Given the description of an element on the screen output the (x, y) to click on. 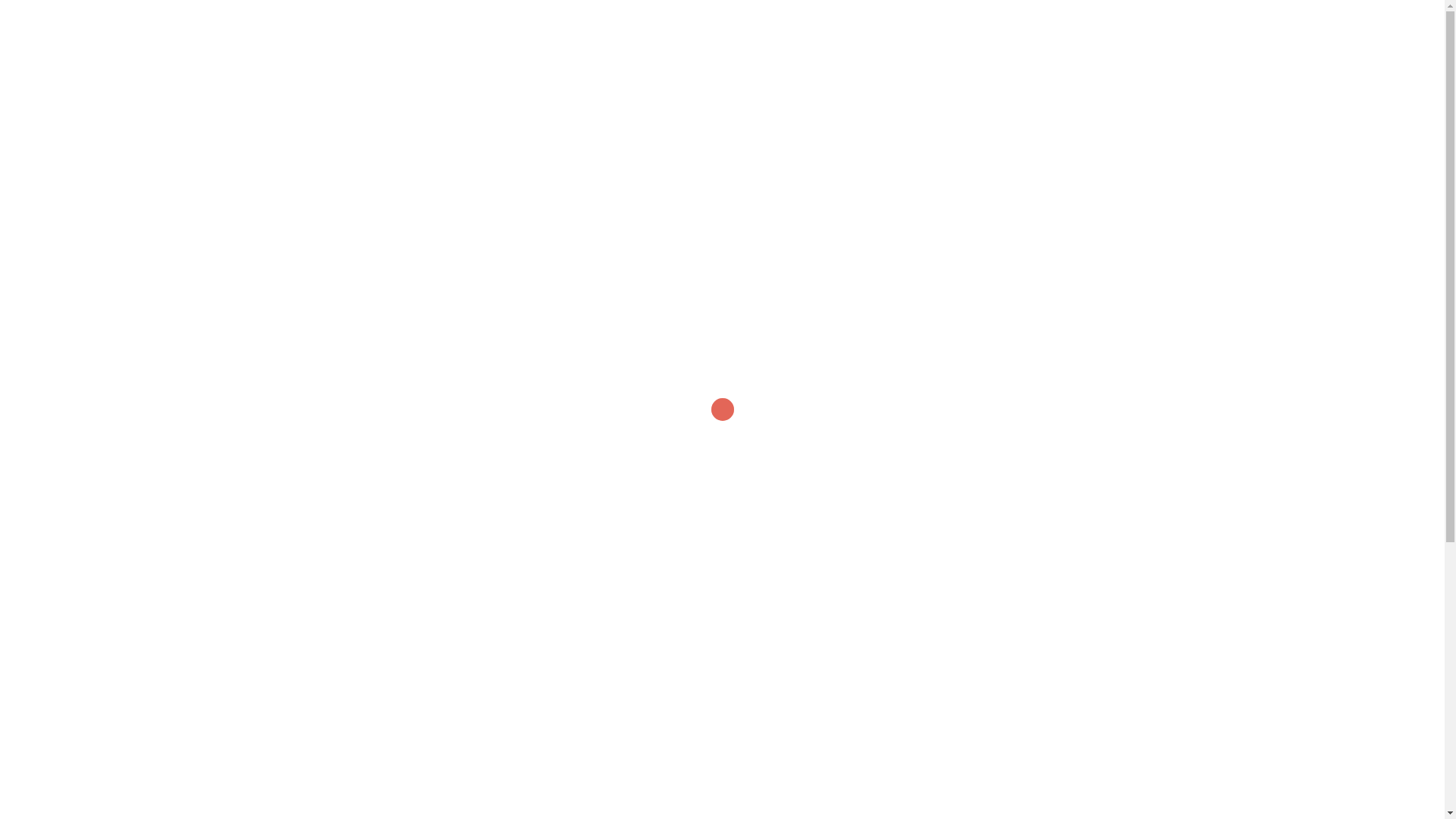
Agriculture and Farm Generators Element type: text (433, 229)
Groundwater Desalination Systems Element type: text (433, 631)
Hire Element type: text (1056, 49)
ALL PRODUCTS & SERVICES Element type: text (721, 729)
Products & Services Element type: text (975, 49)
Contact Us Element type: text (1115, 49)
Stand-Alone Power Systems (SPS) Element type: text (1009, 229)
Switchboard and Power Enclosures Element type: text (721, 229)
Home Element type: text (821, 49)
Environmental Monitoring Element type: text (433, 430)
MPC Engineering Element type: hover (412, 46)
Mobile Fuel Facilities Element type: text (722, 430)
Quad Lattice Mast System Element type: text (1010, 430)
About Us Element type: text (879, 49)
